Given the description of an element on the screen output the (x, y) to click on. 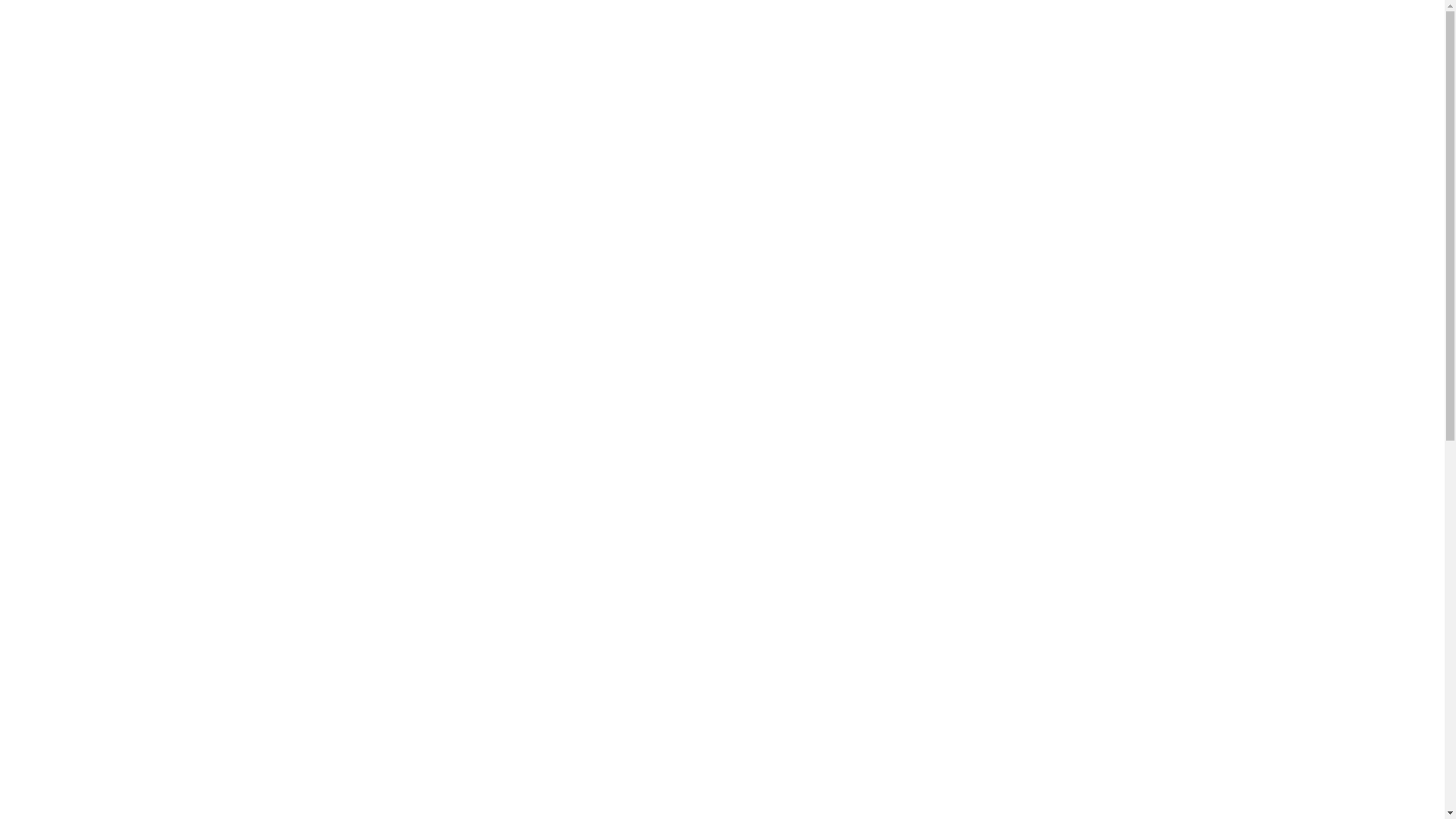
Google+ Element type: hover (843, 780)
VIDEO Element type: text (479, 605)
Post with Link Element type: text (429, 239)
Entertainement Element type: text (532, 575)
E-Mail Element type: hover (873, 780)
CONTACT US Element type: text (1368, 29)
August 2013 Element type: text (938, 513)
Digg Element type: hover (782, 780)
WordPress.org Element type: text (944, 782)
sdgdsff Element type: text (927, 310)
Entries feed Element type: text (937, 752)
Reddit Element type: hover (752, 780)
Fun Element type: text (581, 575)
Facebook Element type: hover (661, 780)
Post with Quote Element type: text (948, 340)
Movement.Builders Element type: text (122, 29)
Comments feed Element type: text (947, 768)
Log in Element type: text (924, 737)
Journal Element type: text (927, 633)
Hello world! Element type: text (938, 325)
Places Element type: text (925, 648)
Post with Quote Element type: text (825, 712)
WHAT WE DO Element type: text (1228, 29)
Twitter Element type: hover (691, 780)
Delicious Element type: hover (812, 780)
HOME Element type: text (1118, 29)
July 2014 Element type: text (930, 498)
Entertainement Element type: text (946, 603)
ROCKNROLLA Element type: text (411, 605)
LinkedIn Element type: hover (721, 780)
Uncategorized Element type: text (943, 589)
Post with Audio Element type: text (946, 369)
Post with Link Element type: text (943, 355)
Travel Element type: text (924, 662)
ABOUT Element type: text (1166, 29)
OUR WORK Element type: text (1299, 29)
Fun Element type: text (919, 617)
Post with Audio Element type: text (428, 712)
